Given the description of an element on the screen output the (x, y) to click on. 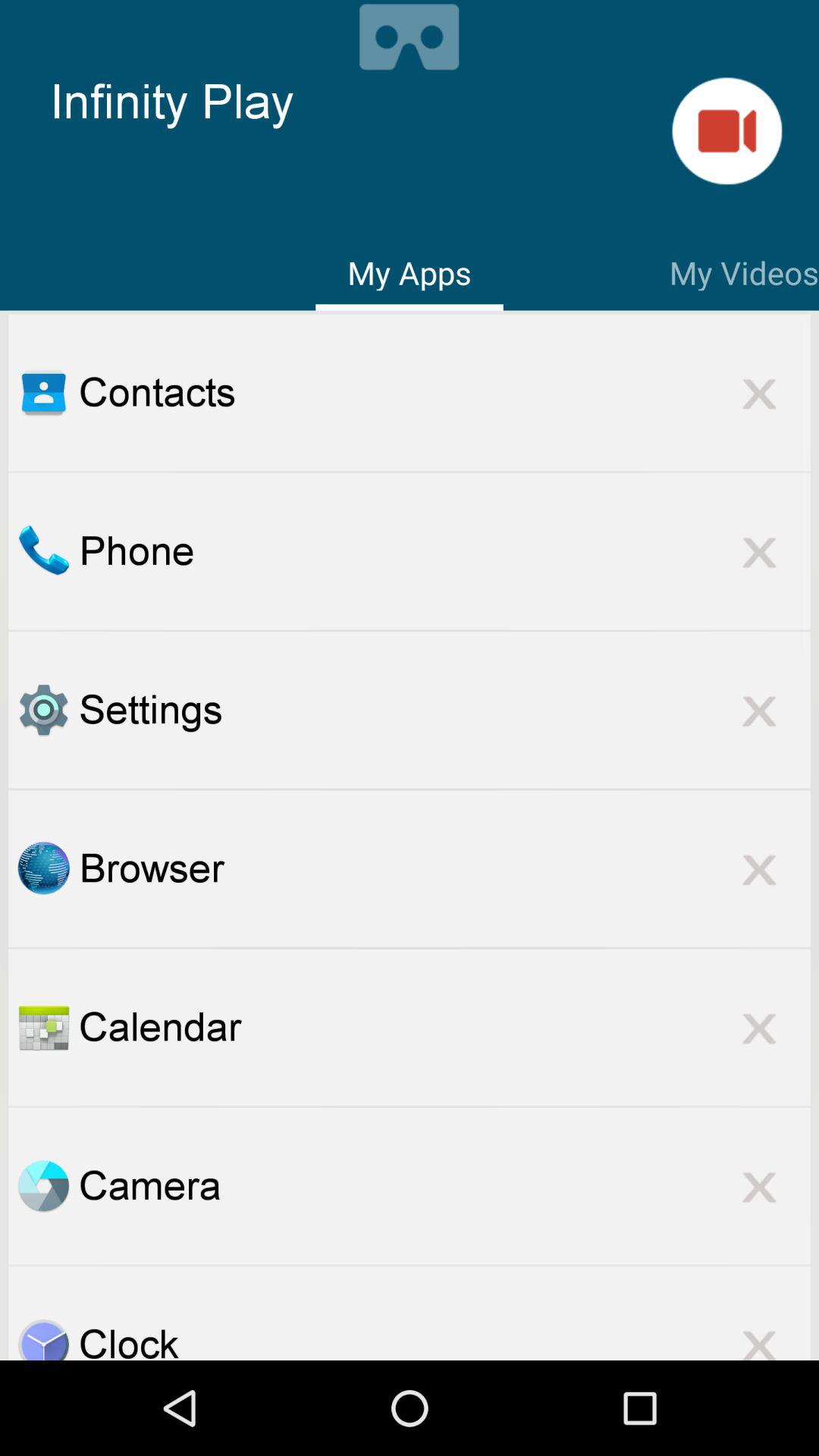
jump until the clock item (444, 1338)
